Given the description of an element on the screen output the (x, y) to click on. 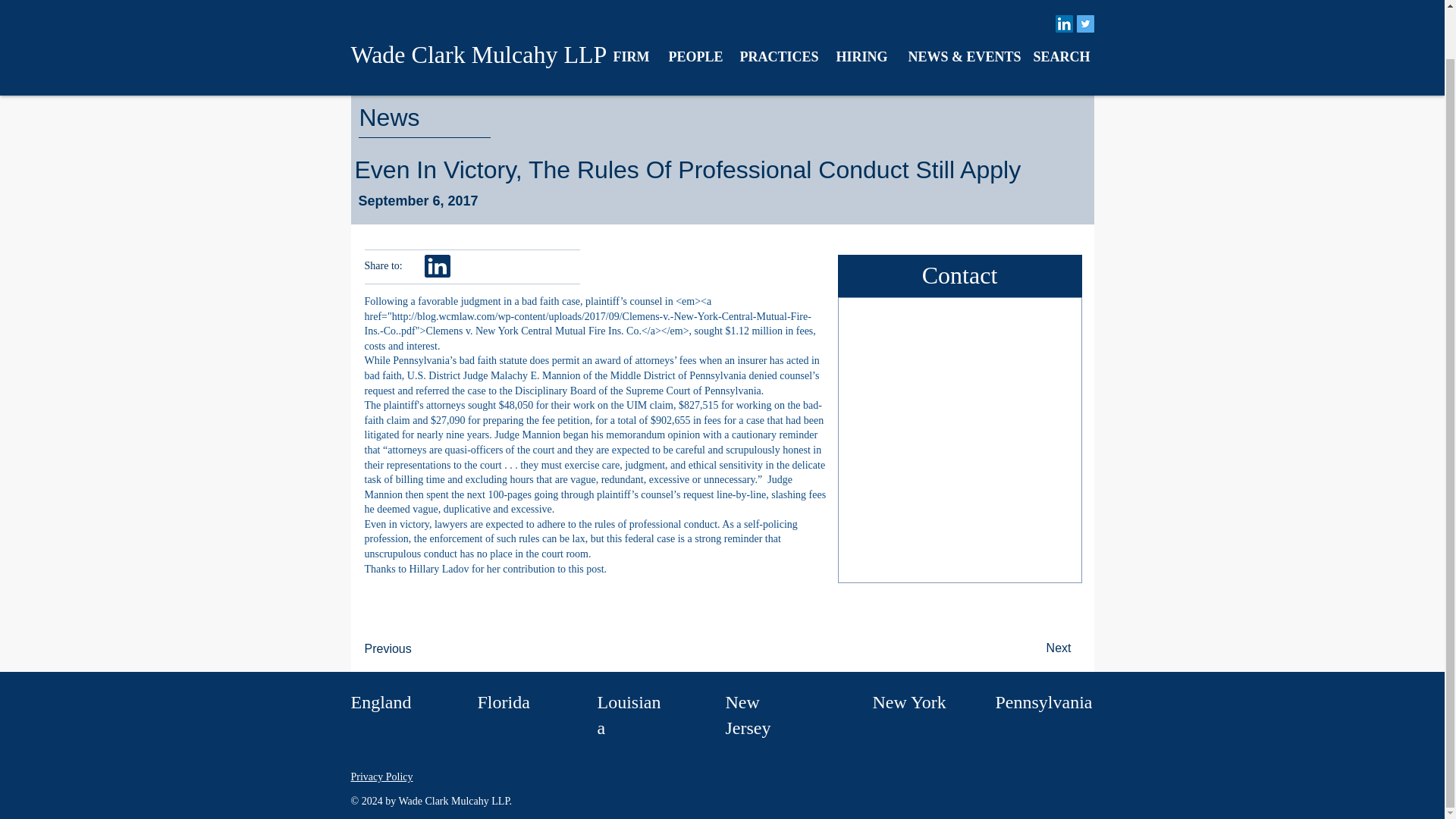
Previous (414, 648)
New York (908, 701)
Privacy Policy (381, 776)
Pennsylvania (1043, 701)
Wade Clark Mulcahy LLP (478, 7)
Next (1032, 648)
PEOPLE (692, 7)
PRACTICES (776, 7)
New Jersey (747, 714)
HIRING (860, 7)
SEARCH (1059, 7)
Florida (503, 701)
FIRM (630, 7)
England (380, 701)
